Given the description of an element on the screen output the (x, y) to click on. 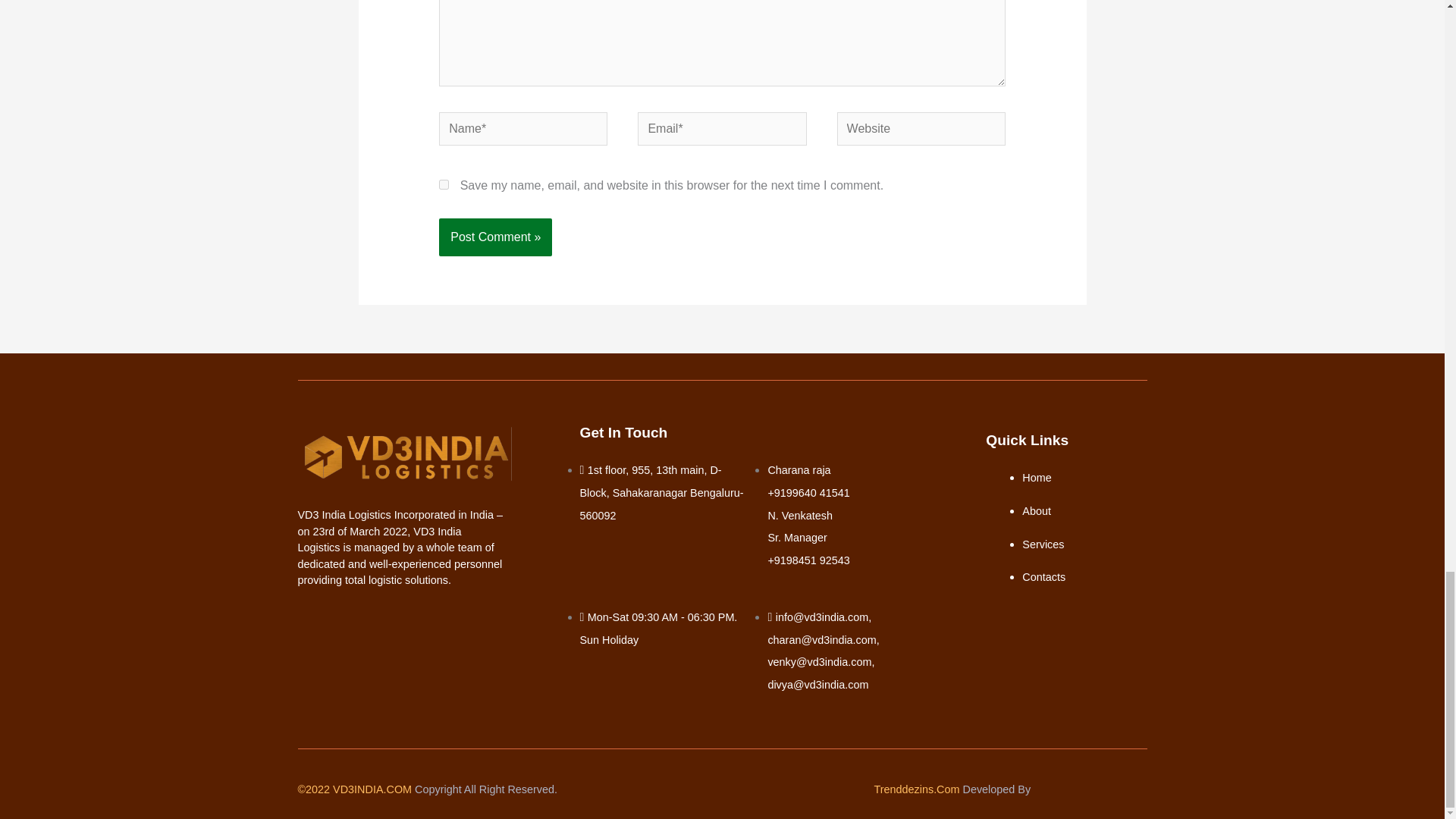
About (1036, 510)
yes (443, 184)
Contacts (1043, 576)
Services (1043, 544)
Home (1036, 477)
